Given the description of an element on the screen output the (x, y) to click on. 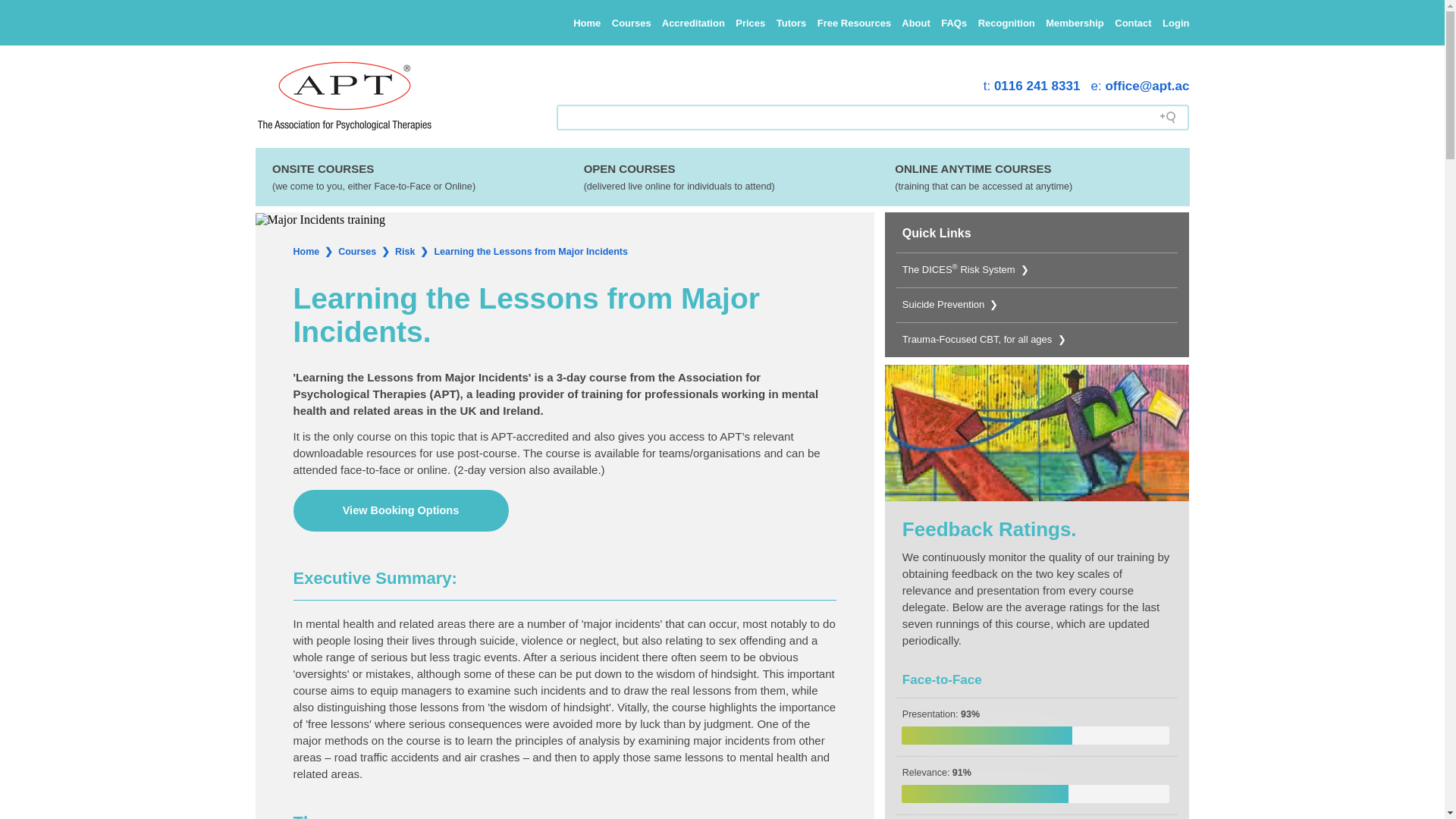
Accreditation (693, 22)
Contact (1133, 22)
Recognition (1006, 22)
Free Resources (853, 22)
Tutors (791, 22)
Login (1175, 22)
Membership (1074, 22)
About (915, 22)
Courses (630, 22)
Prices (750, 22)
Home (586, 22)
FAQs (953, 22)
